Given the description of an element on the screen output the (x, y) to click on. 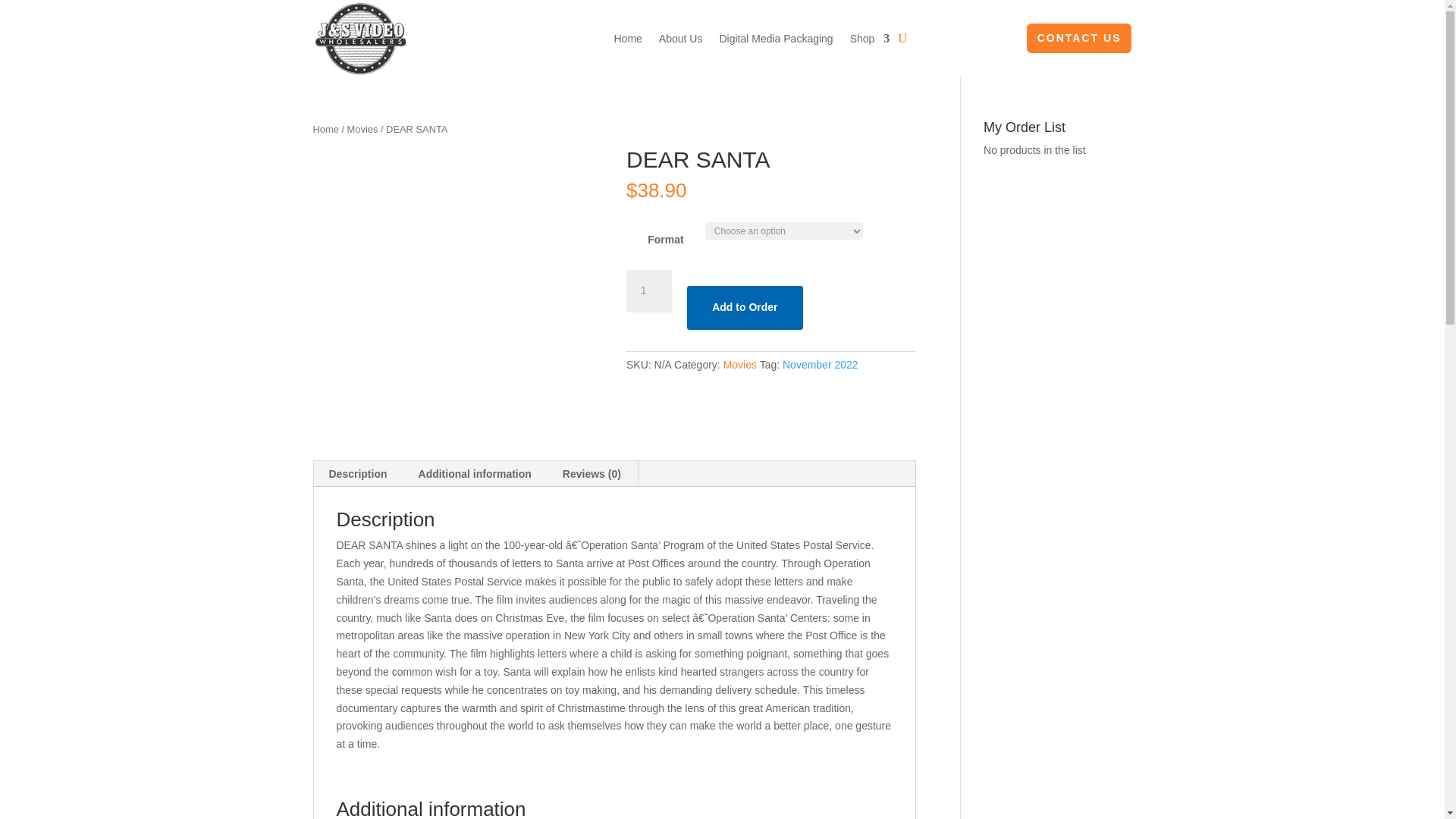
Digital Media Packaging (775, 38)
CONTACT US (1079, 38)
1 (648, 291)
